Given the description of an element on the screen output the (x, y) to click on. 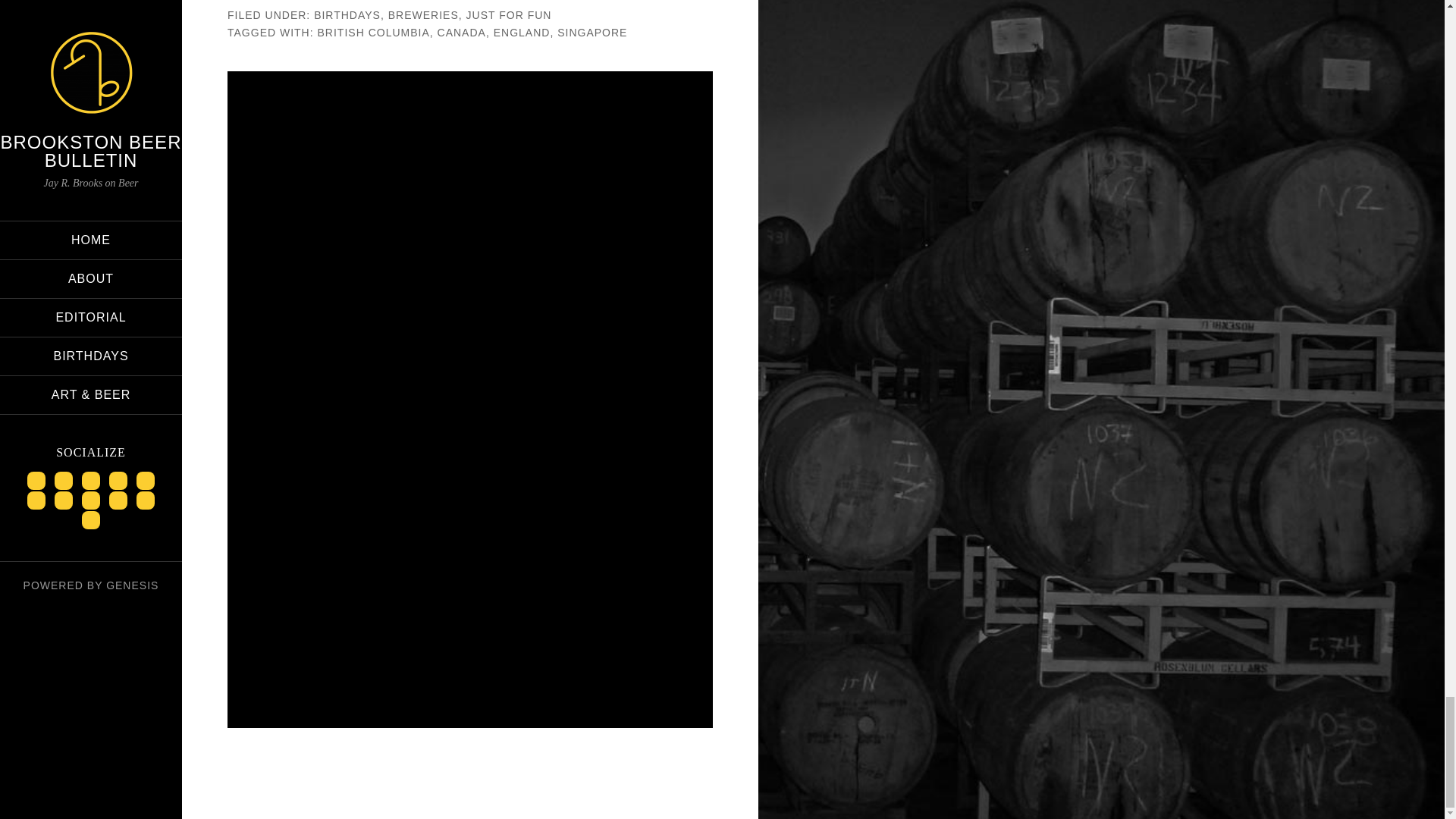
BIRTHDAYS (347, 15)
ENGLAND (521, 32)
BRITISH COLUMBIA (373, 32)
BREWERIES (423, 15)
JUST FOR FUN (508, 15)
SINGAPORE (592, 32)
CANADA (462, 32)
